Given the description of an element on the screen output the (x, y) to click on. 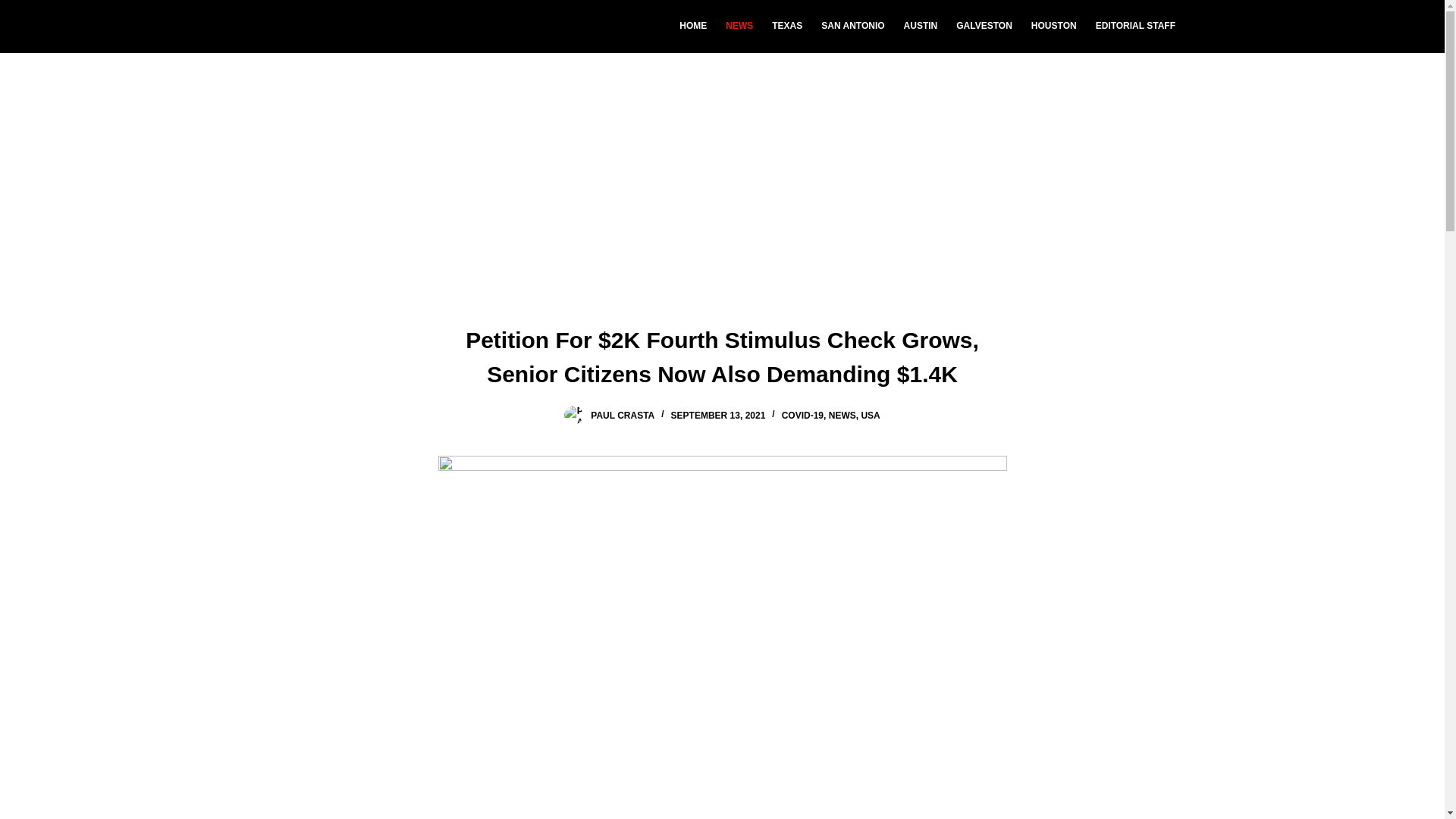
COVID-19 (802, 415)
Posts by Paul Crasta (622, 415)
EDITORIAL STAFF (1135, 26)
NEWS (842, 415)
USA (869, 415)
AUSTIN (920, 26)
Skip to content (15, 7)
PAUL CRASTA (622, 415)
TEXAS (787, 26)
SAN ANTONIO (852, 26)
GALVESTON (984, 26)
HOUSTON (1054, 26)
